Given the description of an element on the screen output the (x, y) to click on. 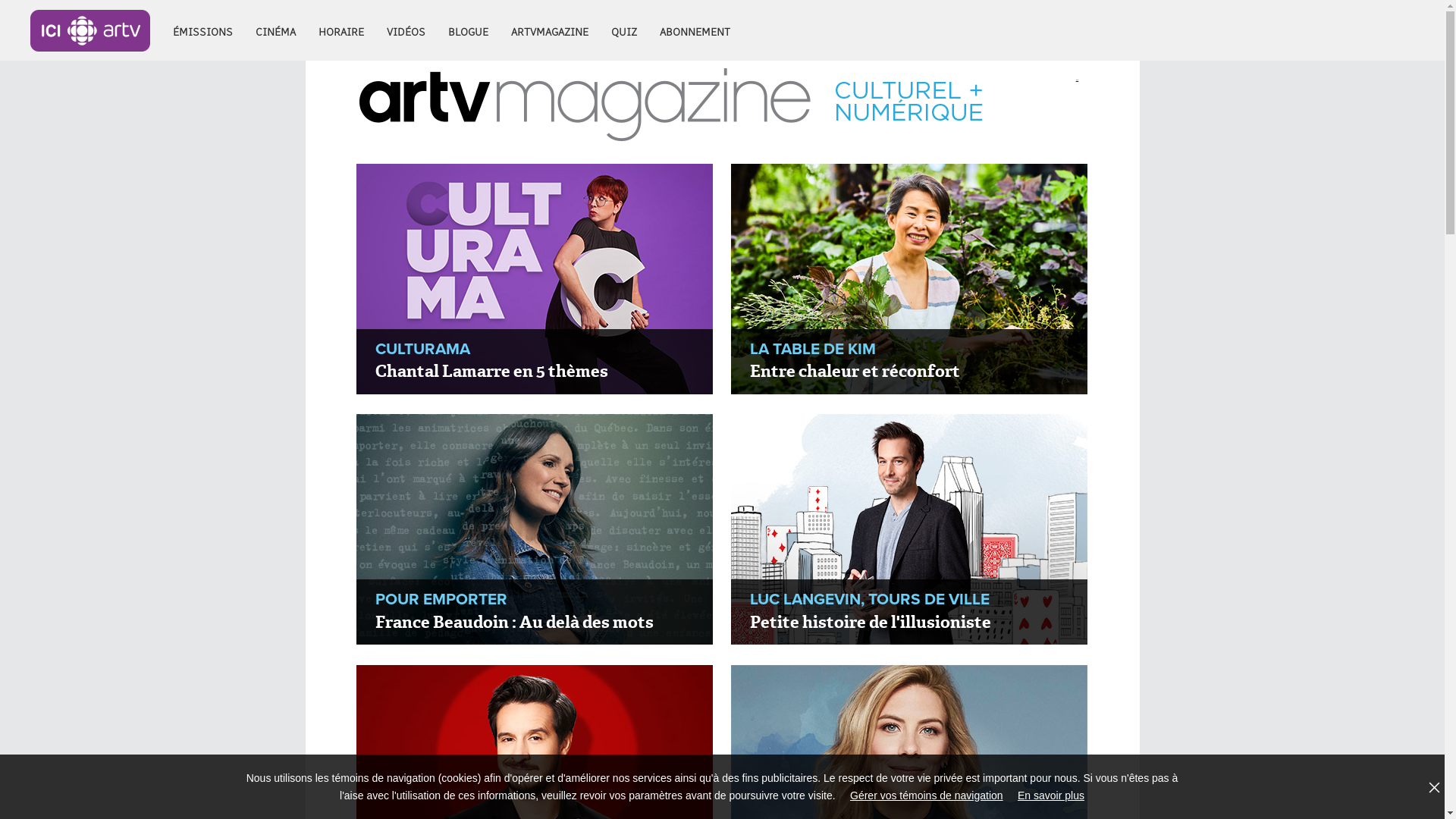
ABONNEMENT Element type: text (694, 30)
ARTVMAGAZINE Element type: text (549, 30)
En savoir plus Element type: text (1050, 794)
Tweeter Element type: text (1077, 79)
HORAIRE Element type: text (341, 30)
QUIZ Element type: text (623, 30)
BLOGUE Element type: text (467, 30)
